Given the description of an element on the screen output the (x, y) to click on. 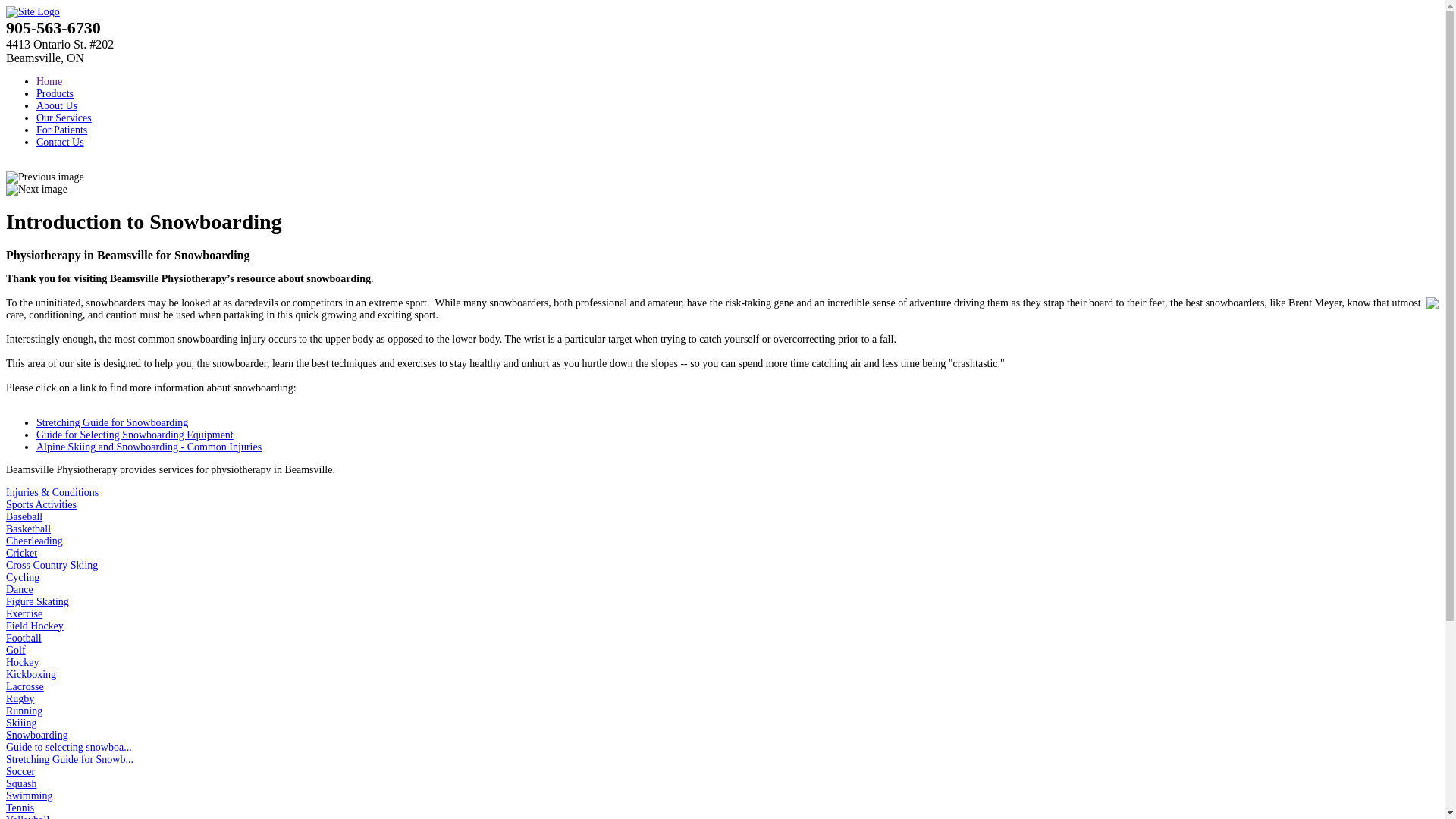
Cycling Element type: text (22, 577)
Tennis Element type: text (20, 807)
Cricket Element type: text (21, 552)
Stretching Guide for Snowb... Element type: text (69, 759)
Hockey Element type: text (22, 662)
Exercise Element type: text (24, 613)
Snowboarding Element type: text (37, 734)
Basketball Element type: text (28, 528)
Swimming Element type: text (29, 795)
Previous image Element type: hover (45, 177)
Running Element type: text (24, 710)
Cheerleading Element type: text (34, 540)
Dance Element type: text (19, 589)
About Us Element type: text (56, 105)
Alpine Skiing and Snowboarding - Common Injuries Element type: text (148, 446)
Football Element type: text (23, 637)
Our Services Element type: text (63, 117)
Contact Us Element type: text (60, 141)
Kickboxing Element type: text (31, 674)
Golf Element type: text (15, 649)
Baseball Element type: text (24, 516)
Home Element type: text (49, 81)
Skiiing Element type: text (21, 722)
Next image Element type: hover (36, 189)
Lacrosse Element type: text (24, 686)
Cross Country Skiing Element type: text (51, 565)
Injuries & Conditions Element type: text (52, 492)
Stretching Guide for Snowboarding Element type: text (112, 422)
Guide for Selecting Snowboarding Equipment Element type: text (134, 434)
Guide to selecting snowboa... Element type: text (68, 747)
For Patients Element type: text (61, 129)
Field Hockey Element type: text (34, 625)
Sports Activities Element type: text (41, 504)
Products Element type: text (54, 93)
Rugby Element type: text (20, 698)
Soccer Element type: text (20, 771)
Squash Element type: text (21, 783)
Figure Skating Element type: text (37, 601)
